Given the description of an element on the screen output the (x, y) to click on. 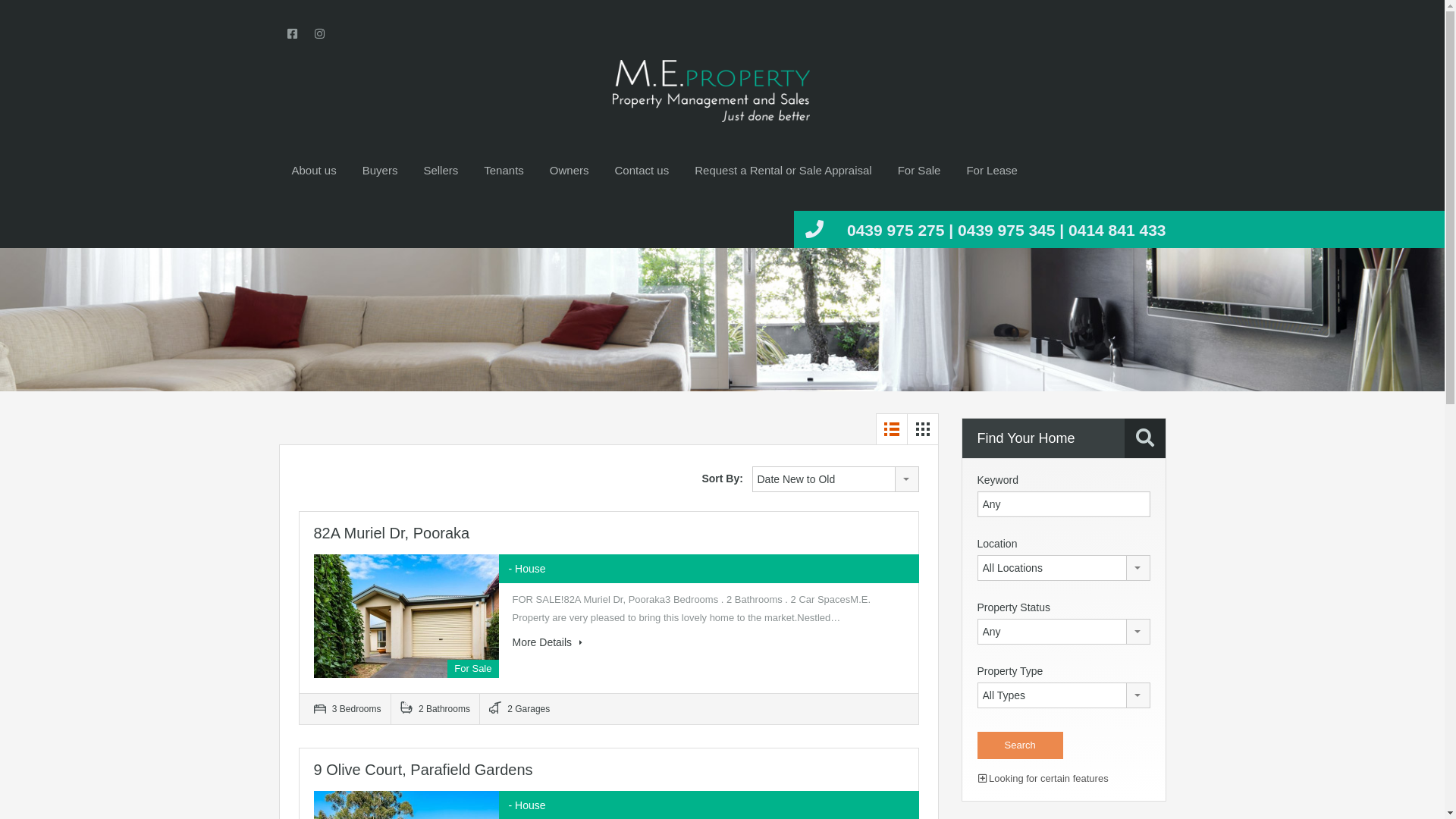
M.E. Property Management Element type: hover (710, 90)
Looking for certain features Element type: text (1043, 778)
For Sale Element type: text (918, 170)
Request a Rental or Sale Appraisal Element type: text (782, 170)
All Types Element type: text (1062, 695)
Date New to Old Element type: text (835, 479)
For Lease Element type: text (991, 170)
Owners Element type: text (569, 170)
9 Olive Court, Parafield Gardens Element type: text (423, 769)
Contact us Element type: text (642, 170)
All Locations Element type: text (1062, 567)
Buyers Element type: text (380, 170)
About us Element type: text (314, 170)
Tenants Element type: text (503, 170)
82A Muriel Dr, Pooraka Element type: text (391, 532)
Sellers Element type: text (440, 170)
Any Element type: text (1062, 631)
More Details Element type: text (547, 641)
Search Element type: text (1019, 745)
0439 975 275 | 0439 975 345 | 0414 841 433 Element type: text (1006, 230)
